Given the description of an element on the screen output the (x, y) to click on. 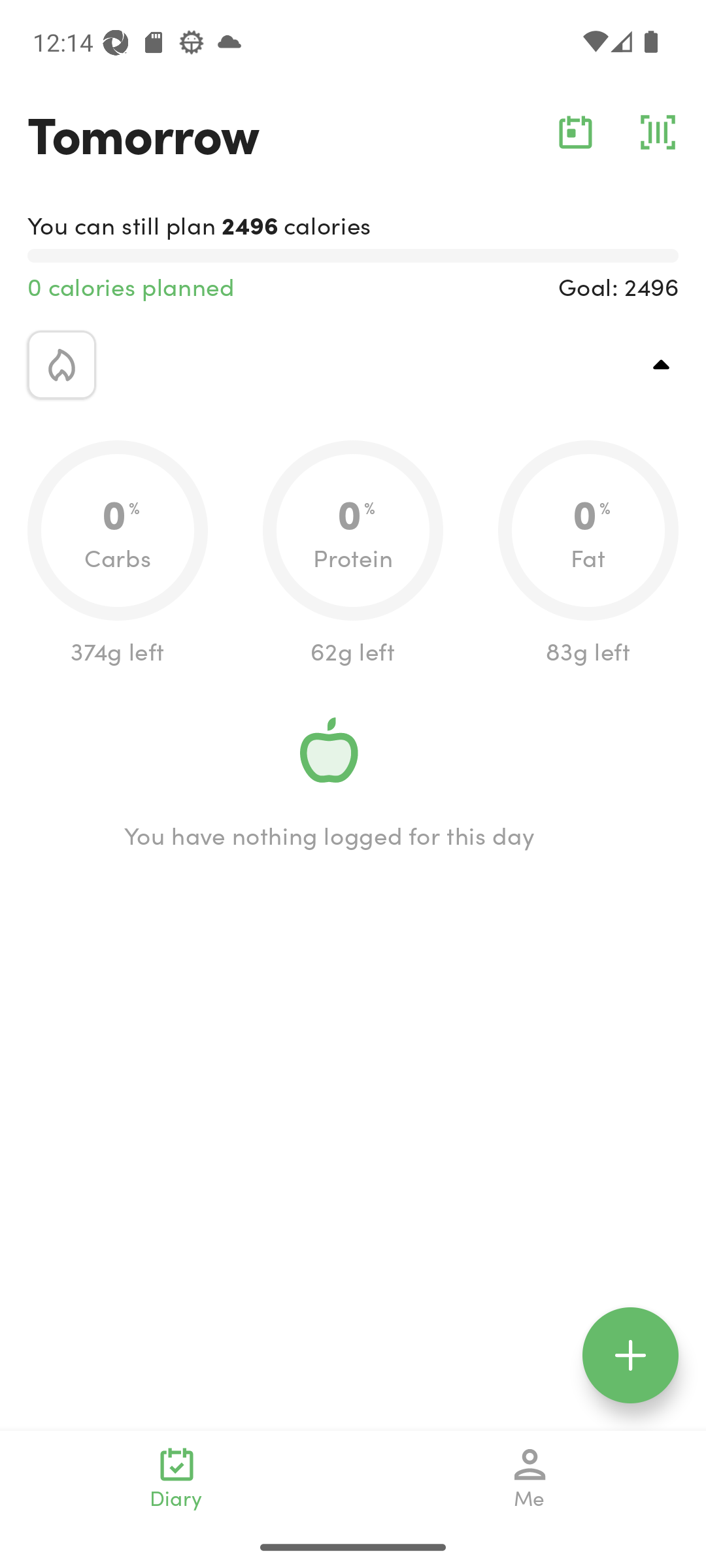
calendar_action (575, 132)
barcode_action (658, 132)
calorie_icon (62, 365)
top_right_action (661, 365)
0.0 0 % Carbs 374g left (117, 553)
0.0 0 % Protein 62g left (352, 553)
0.0 0 % Fat 83g left (588, 553)
floating_action_icon (630, 1355)
Me navigation_icon (529, 1478)
